Given the description of an element on the screen output the (x, y) to click on. 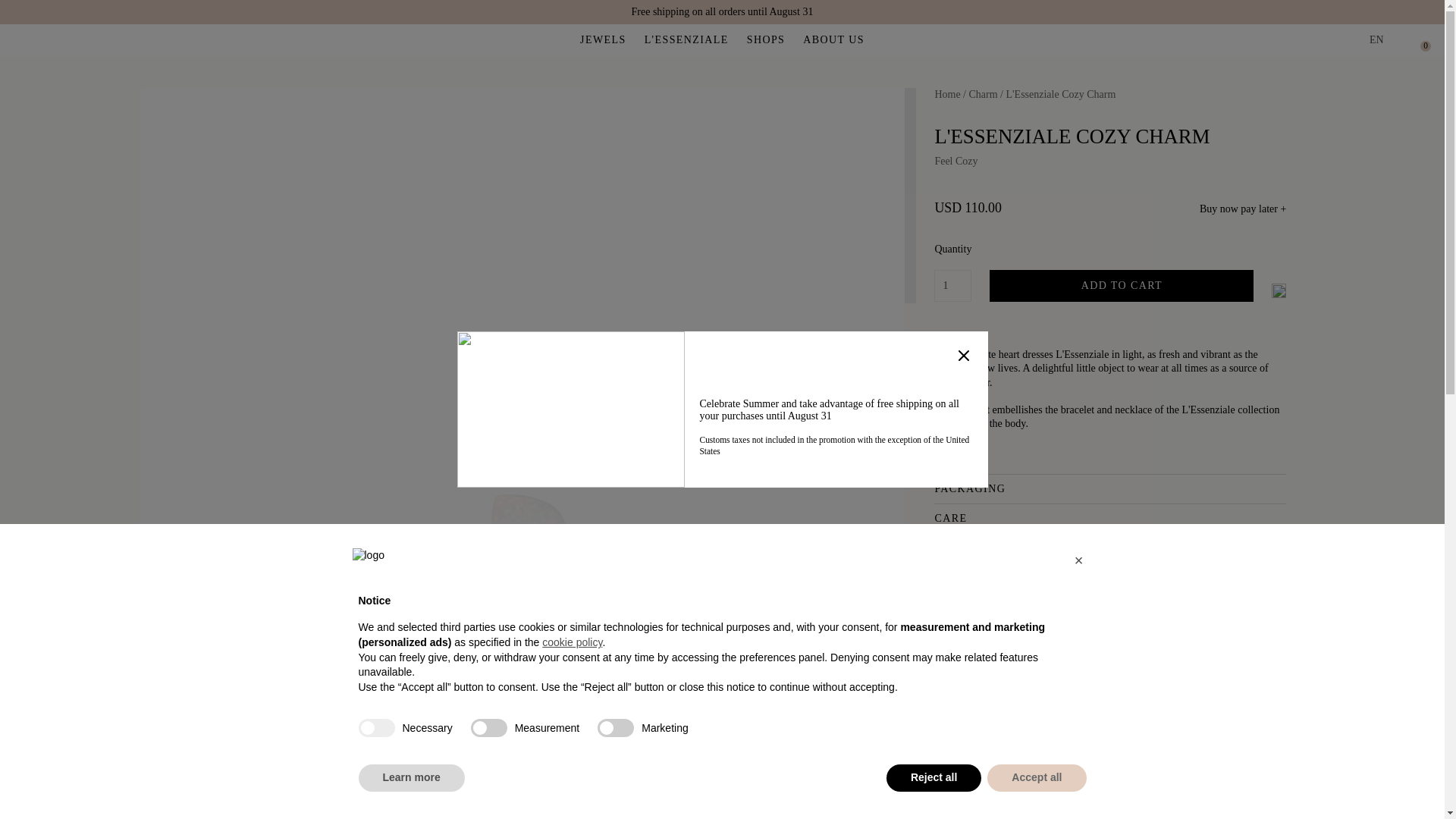
SHOPS (766, 39)
false (488, 728)
false (614, 728)
ABOUT US (833, 39)
true (376, 728)
L'ESSENZIALE (687, 39)
JEWELS (602, 39)
